Given the description of an element on the screen output the (x, y) to click on. 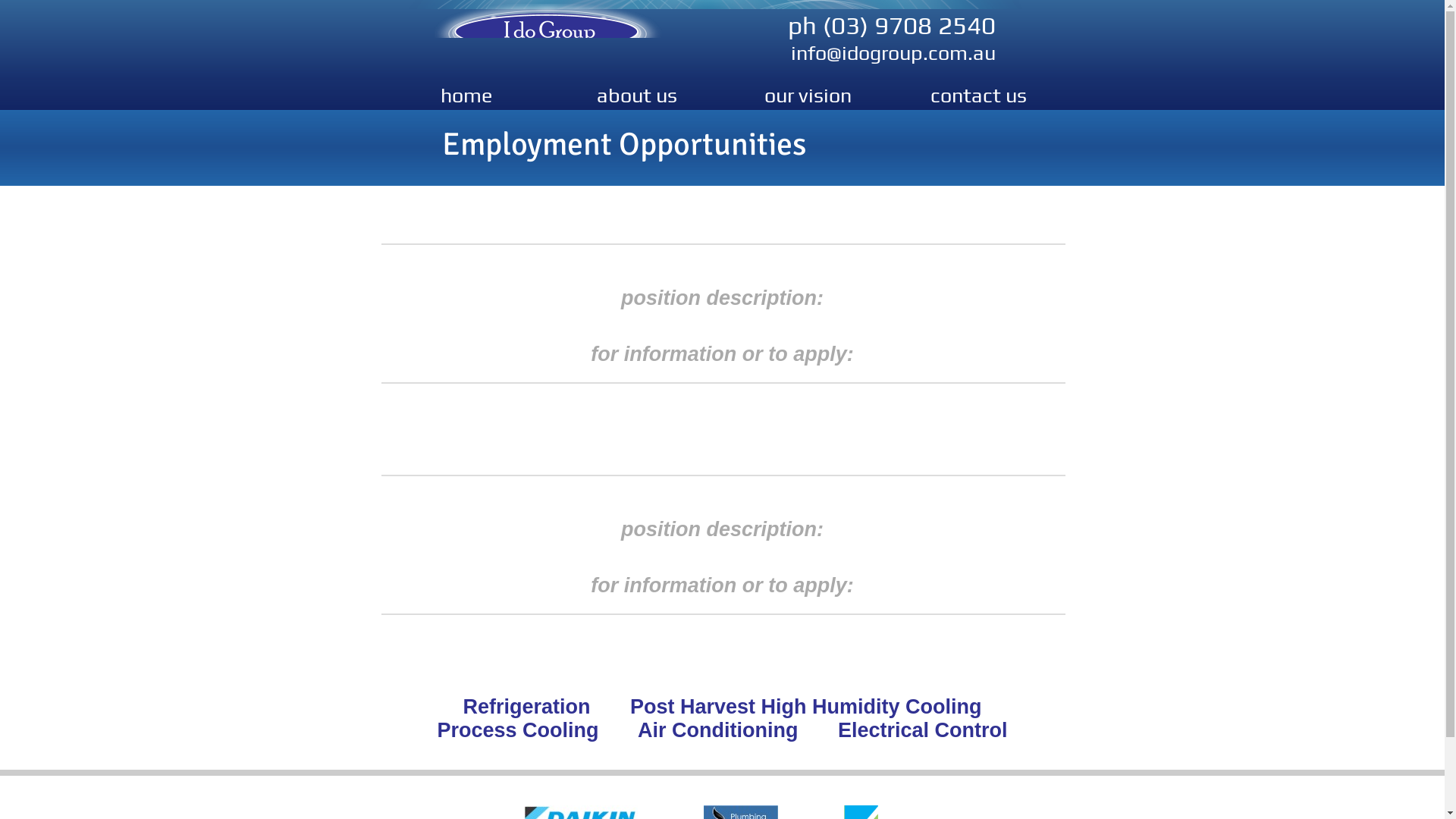
home Element type: text (465, 94)
info@idogroup.com.au Element type: text (892, 52)
contact us Element type: text (978, 94)
about us Element type: text (637, 94)
our vision Element type: text (806, 94)
